Given the description of an element on the screen output the (x, y) to click on. 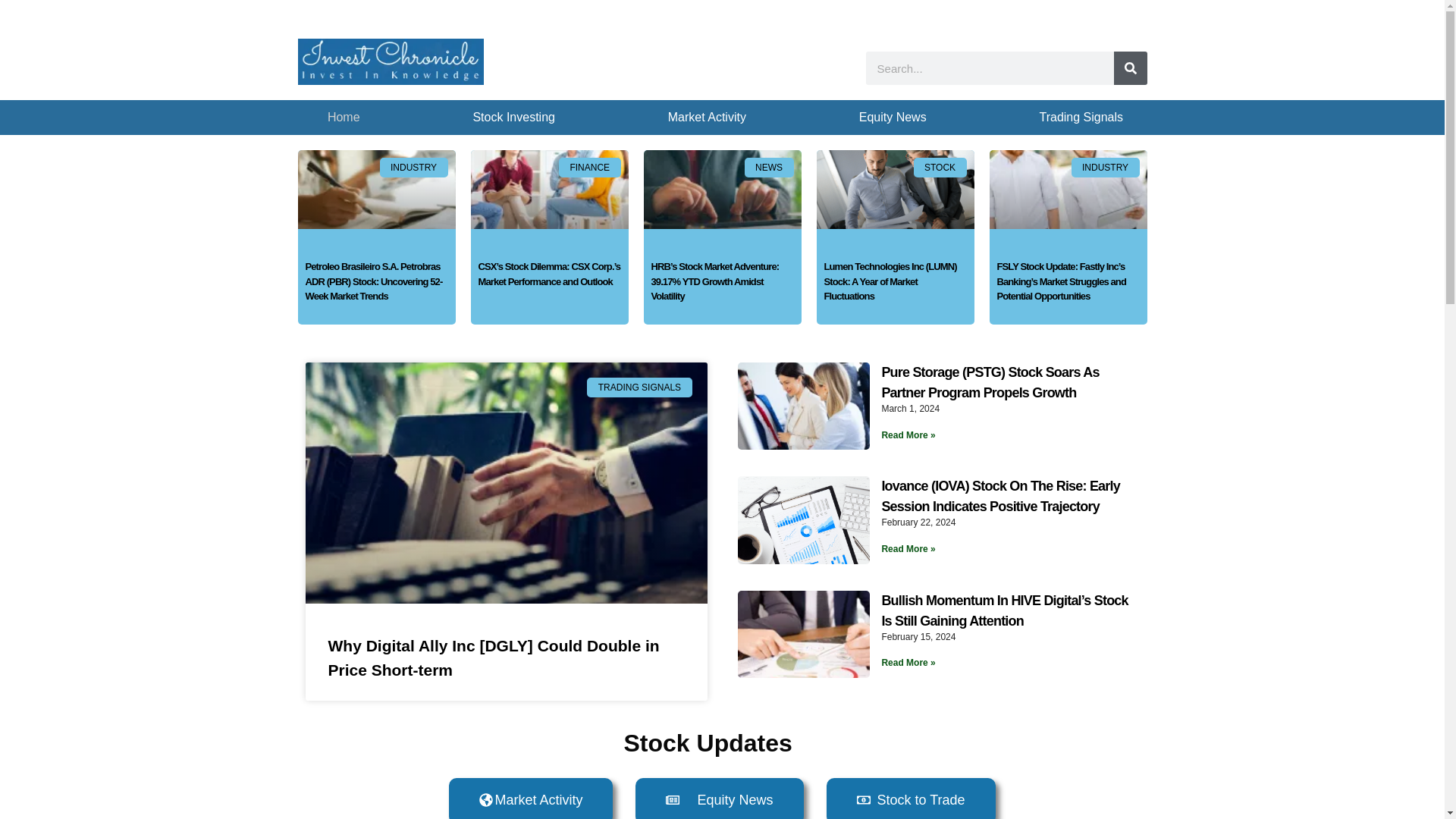
Home (343, 117)
Market Activity (706, 117)
Trading Signals (1080, 117)
Equity News (892, 117)
Equity News (718, 798)
Stock Investing (513, 117)
Market Activity (530, 798)
Stock to Trade (911, 798)
